Given the description of an element on the screen output the (x, y) to click on. 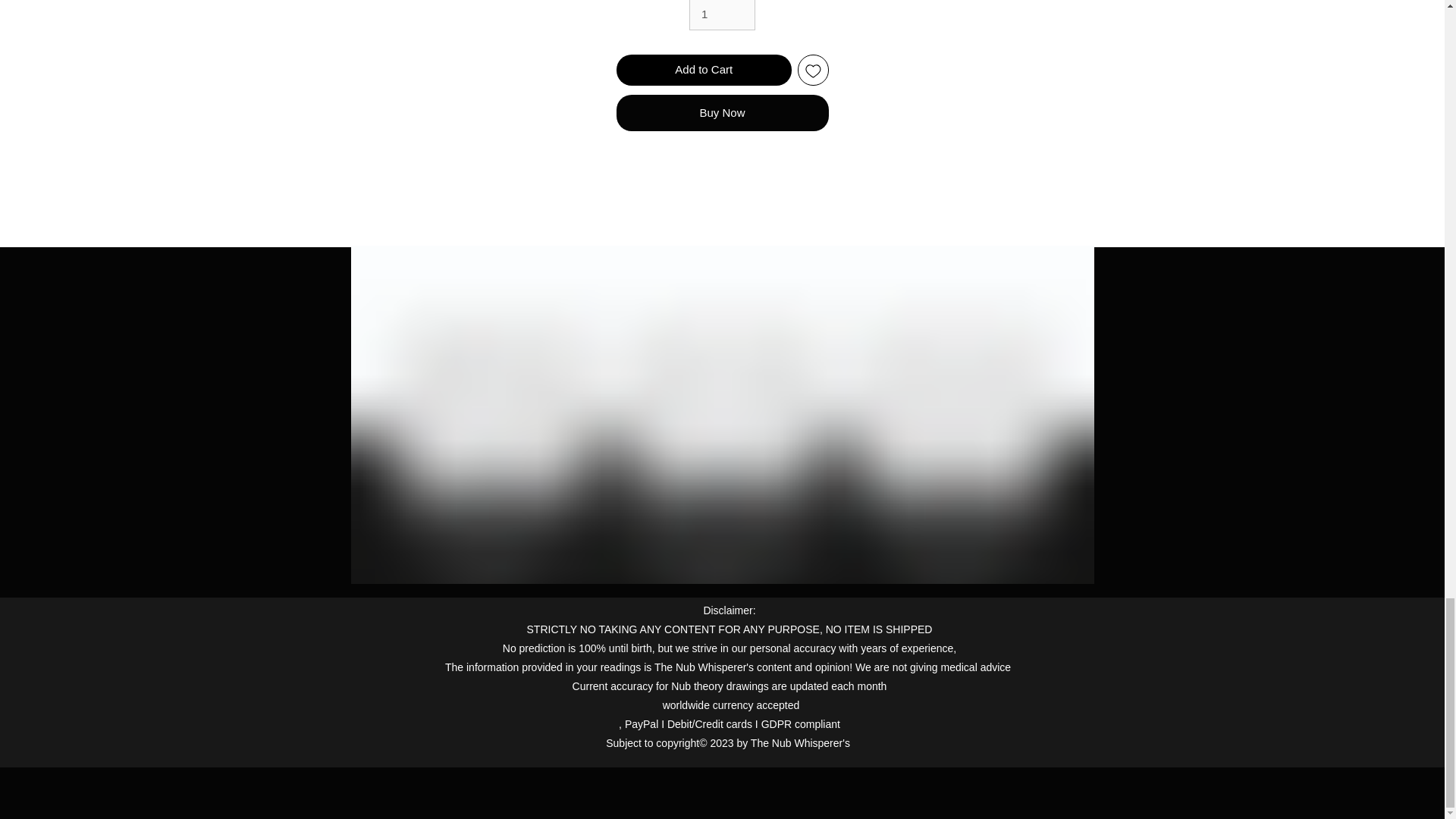
Buy Now (721, 113)
Add to Cart (703, 69)
1 (721, 15)
